Given the description of an element on the screen output the (x, y) to click on. 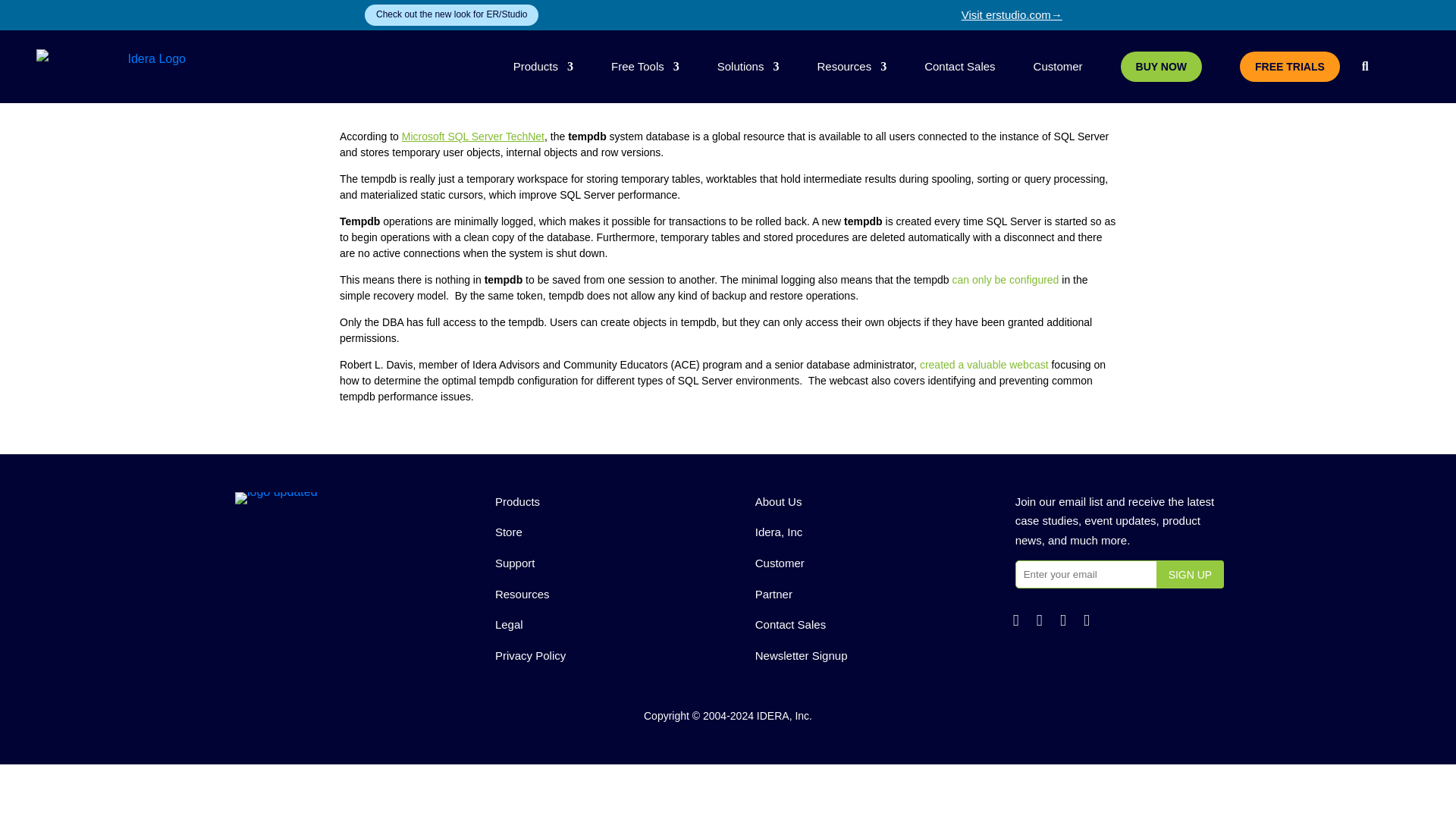
Free Tools (645, 66)
Solutions (747, 66)
Idera-Logo (275, 498)
Products (543, 66)
Sign up (1190, 574)
